Given the description of an element on the screen output the (x, y) to click on. 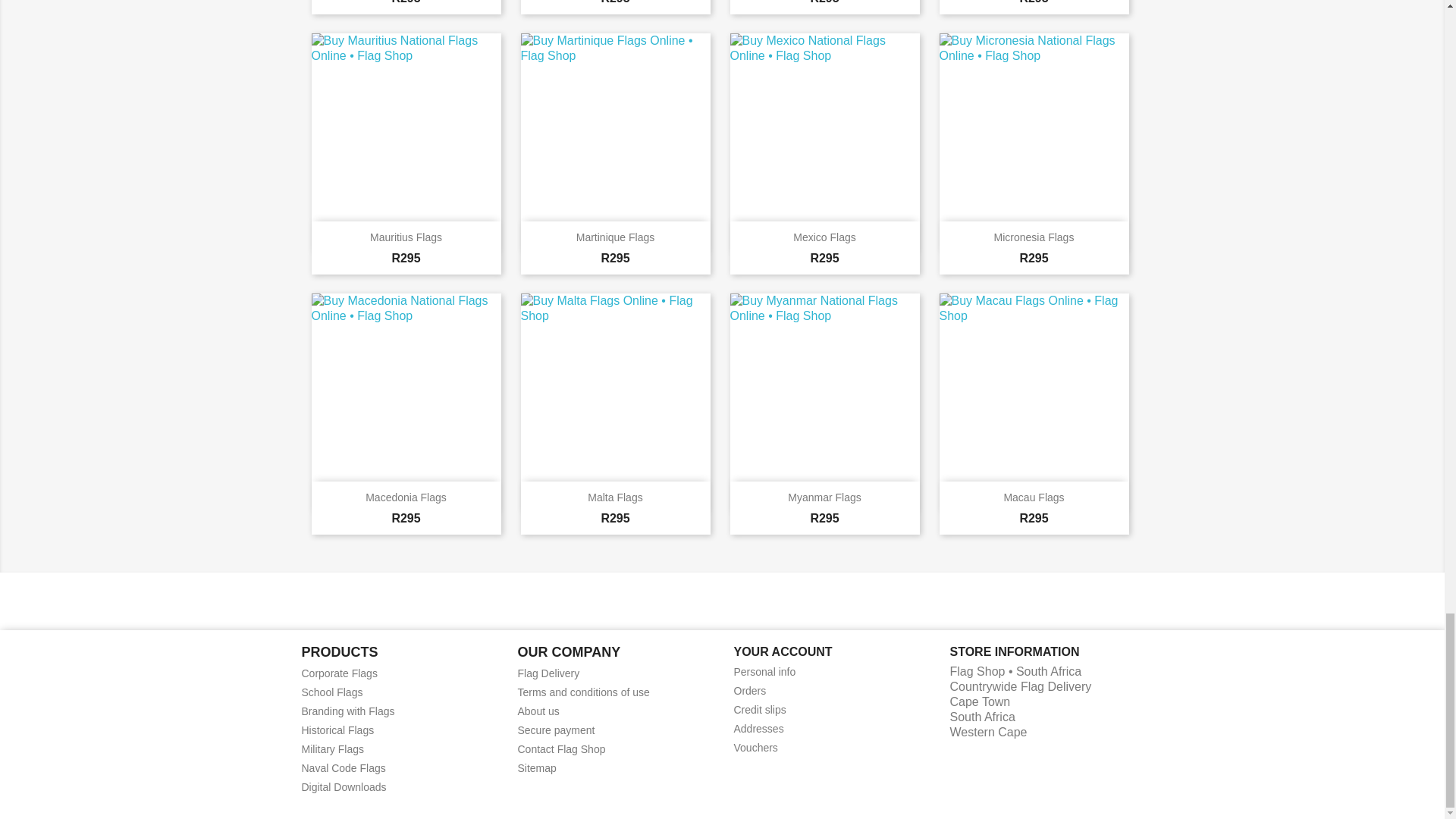
Flag Shop terms and conditions of use (582, 692)
